Given the description of an element on the screen output the (x, y) to click on. 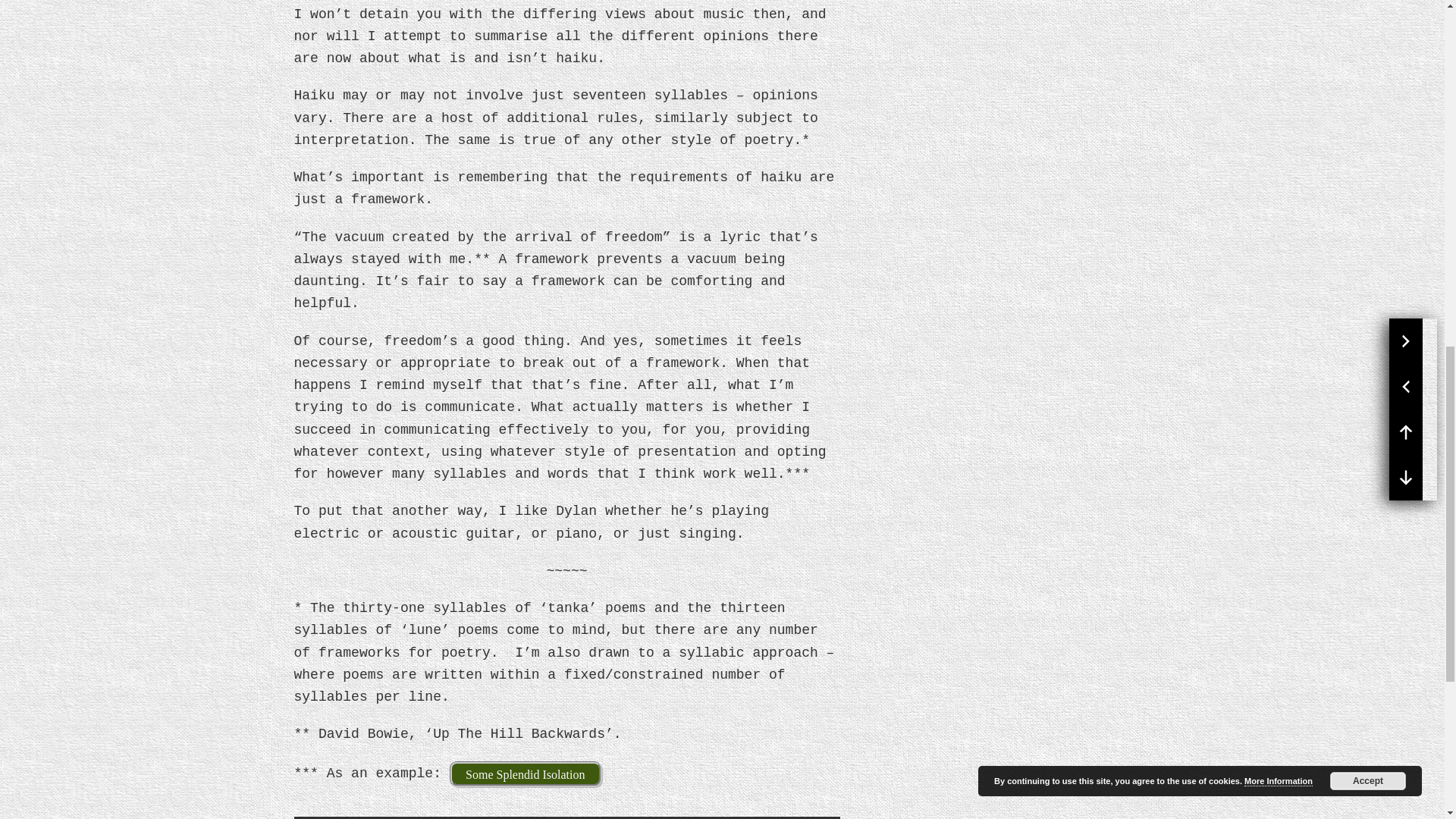
Some Splendid Isolation (525, 773)
Link to Some Splendid Isolation item (525, 773)
